Given the description of an element on the screen output the (x, y) to click on. 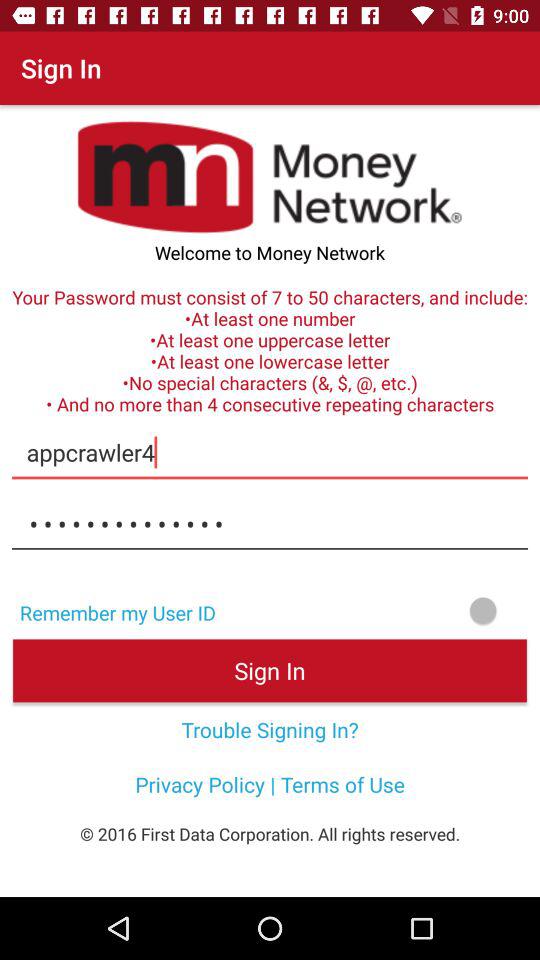
swipe to the appcrawler3116 (269, 523)
